Given the description of an element on the screen output the (x, y) to click on. 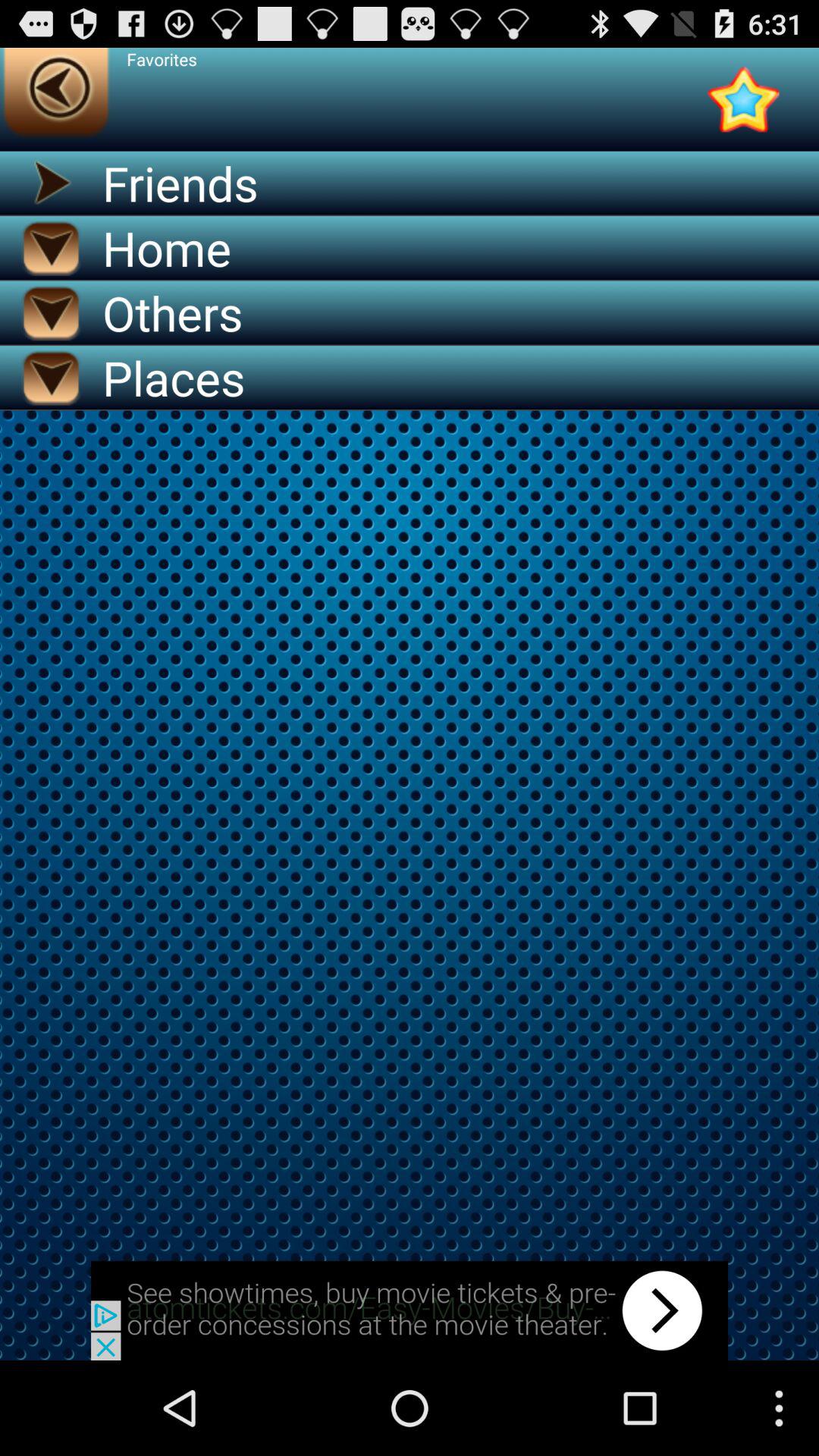
advertisement (409, 1310)
